Given the description of an element on the screen output the (x, y) to click on. 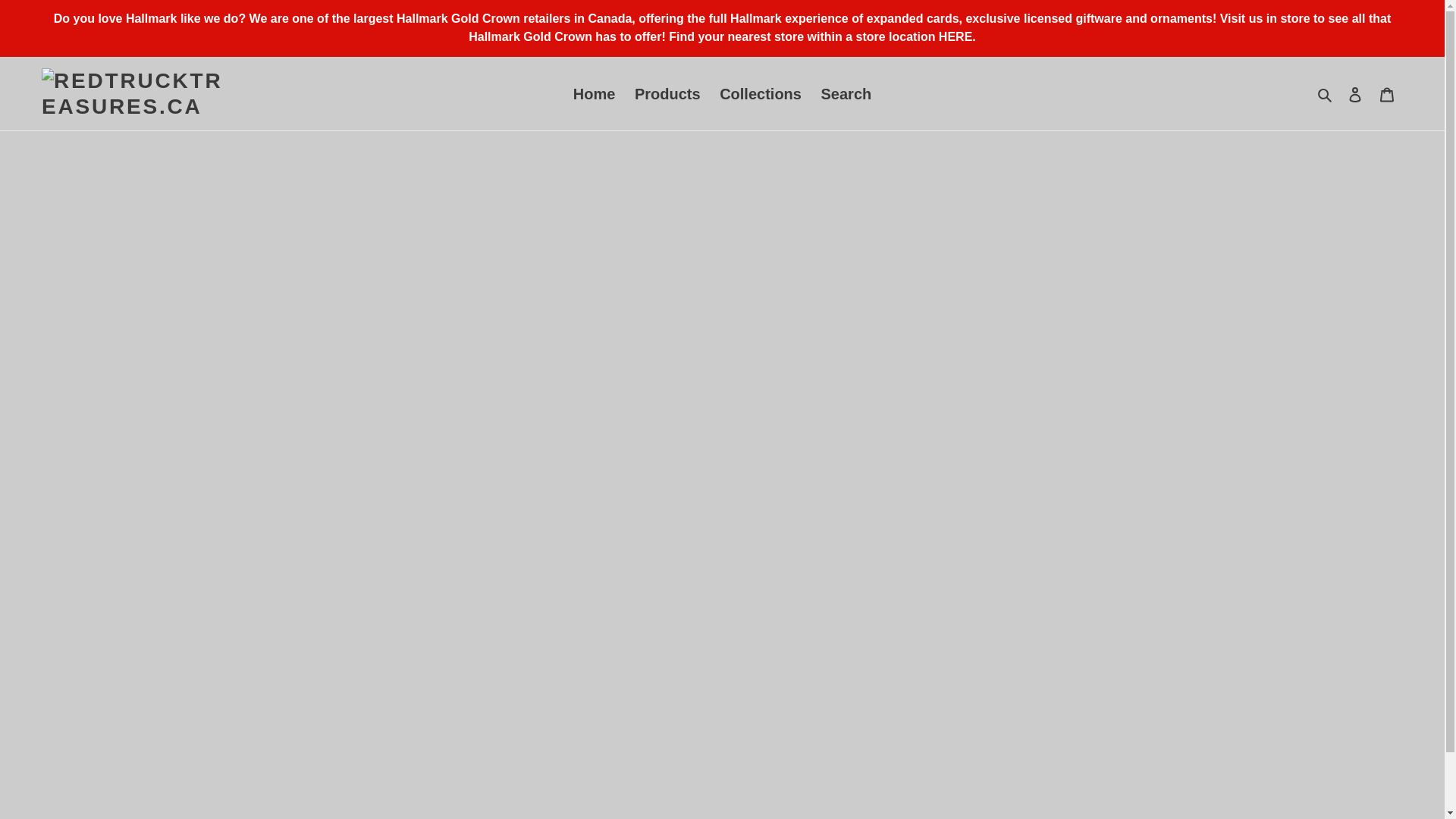
Products (667, 93)
Collections (760, 93)
Search (846, 93)
Search (1326, 93)
Home (594, 93)
